Given the description of an element on the screen output the (x, y) to click on. 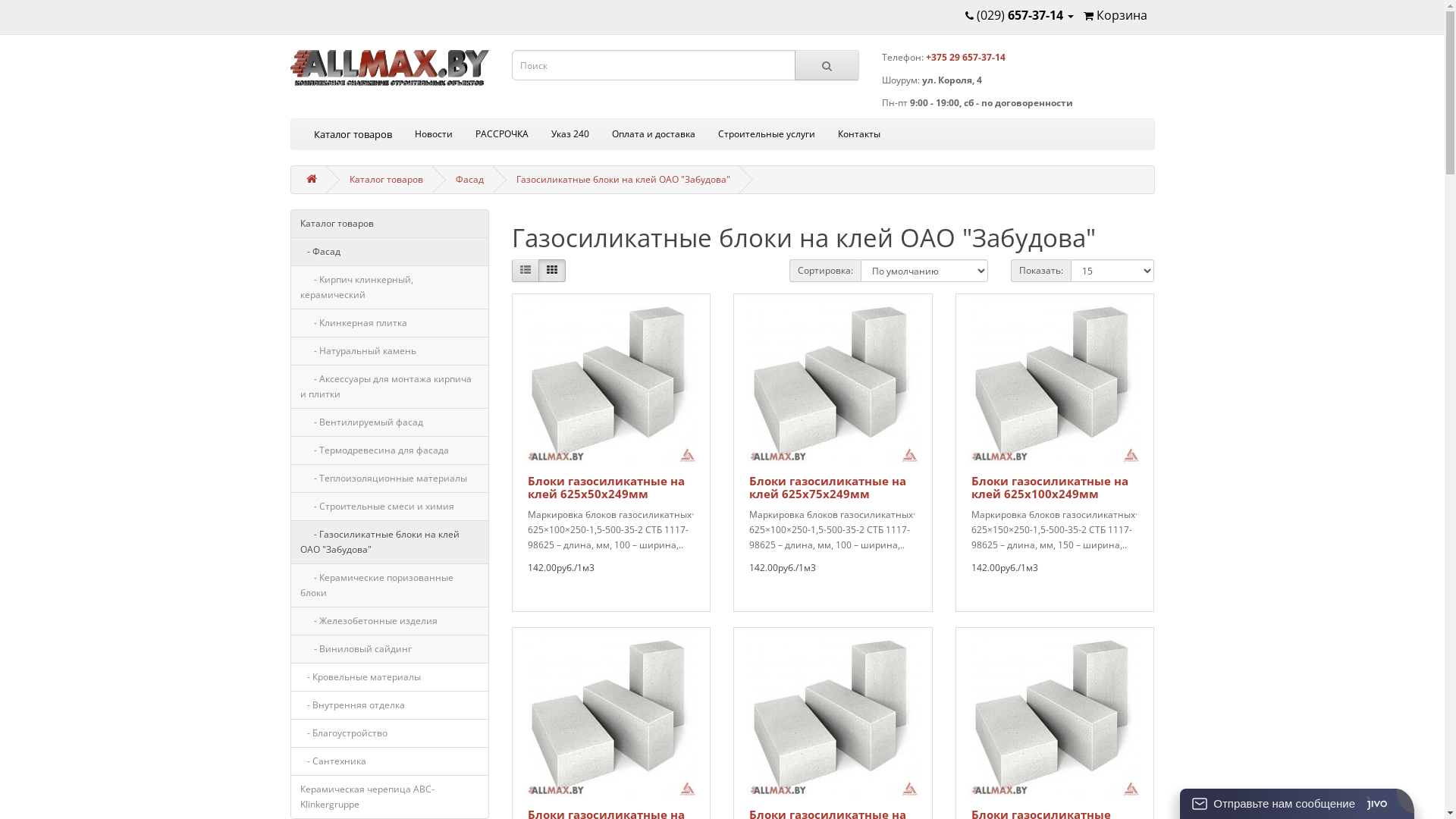
(029) 657-37-14 Element type: text (1018, 14)
+375 29 657-37-14 Element type: text (964, 56)
